Given the description of an element on the screen output the (x, y) to click on. 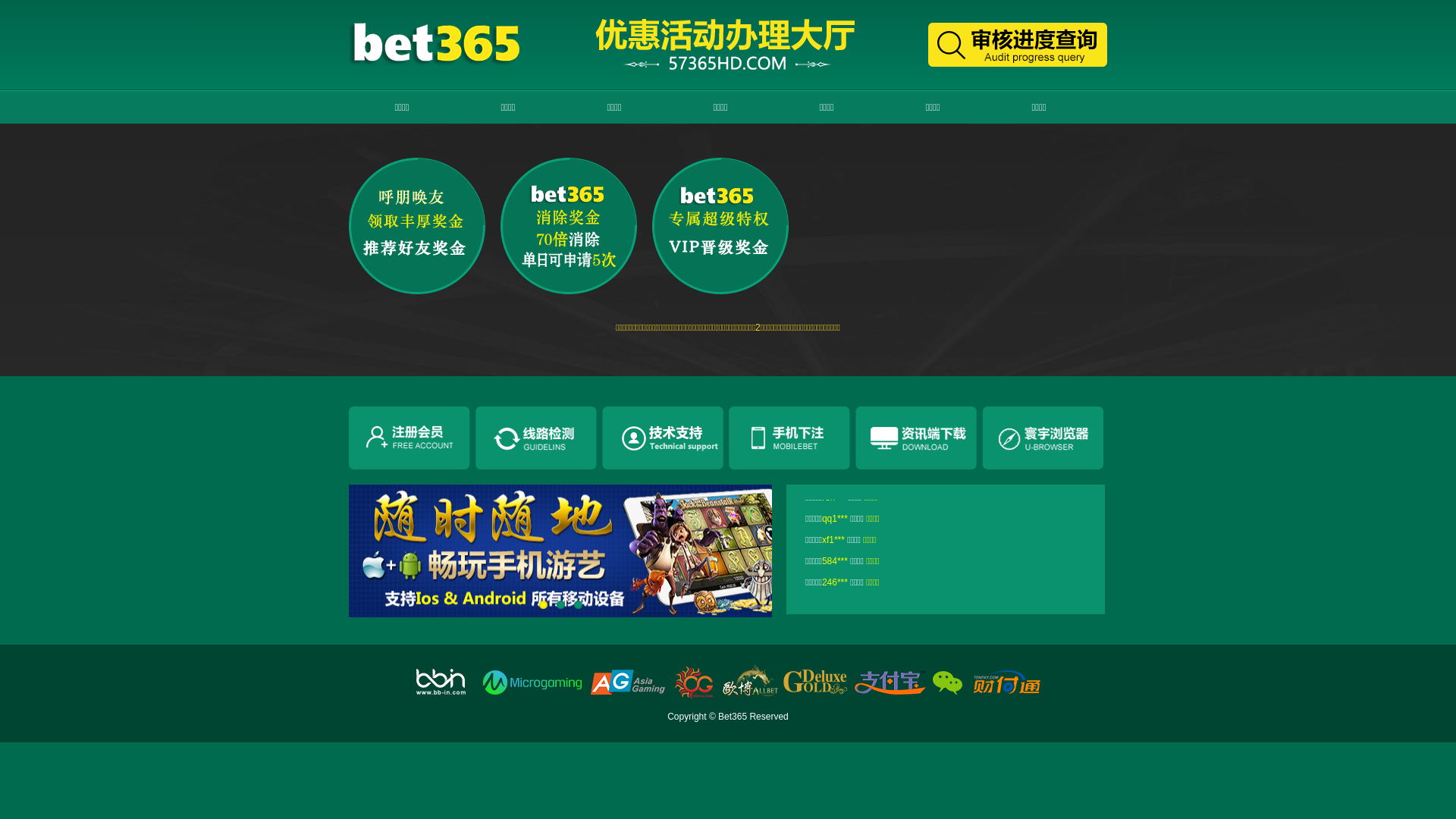
2 Element type: text (560, 604)
1 Element type: text (542, 604)
3 Element type: text (577, 604)
